Given the description of an element on the screen output the (x, y) to click on. 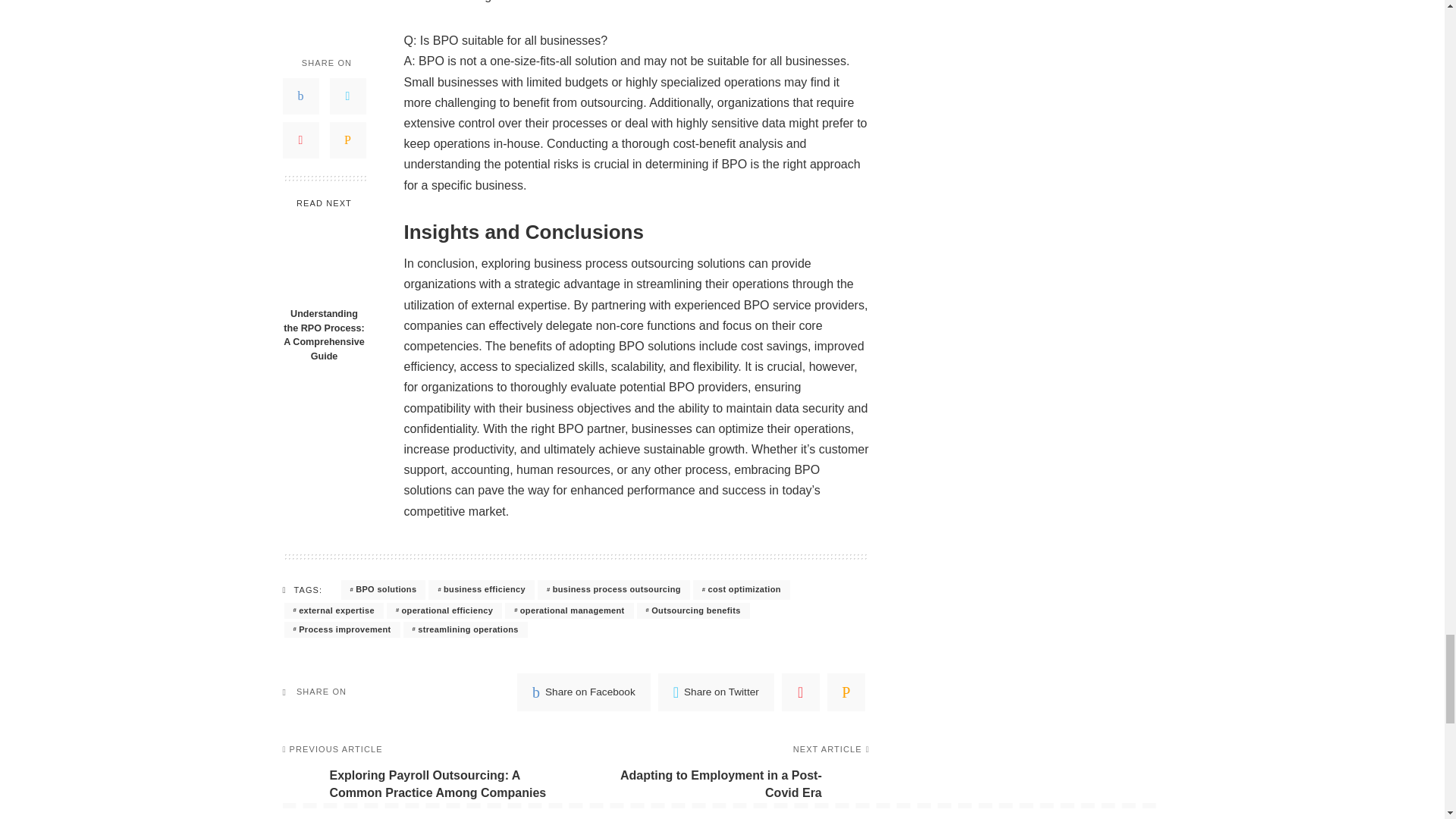
streamlining operations (465, 629)
BPO solutions (383, 589)
BPO solutions (383, 589)
Share on Facebook (583, 692)
operational efficiency (444, 610)
Outsourcing benefits (693, 610)
business efficiency (481, 589)
operational management (569, 610)
Share on Twitter (716, 692)
business process outsourcing (613, 589)
external expertise (332, 610)
external expertise (332, 610)
cost optimization (741, 589)
business efficiency (481, 589)
cost optimization (741, 589)
